Given the description of an element on the screen output the (x, y) to click on. 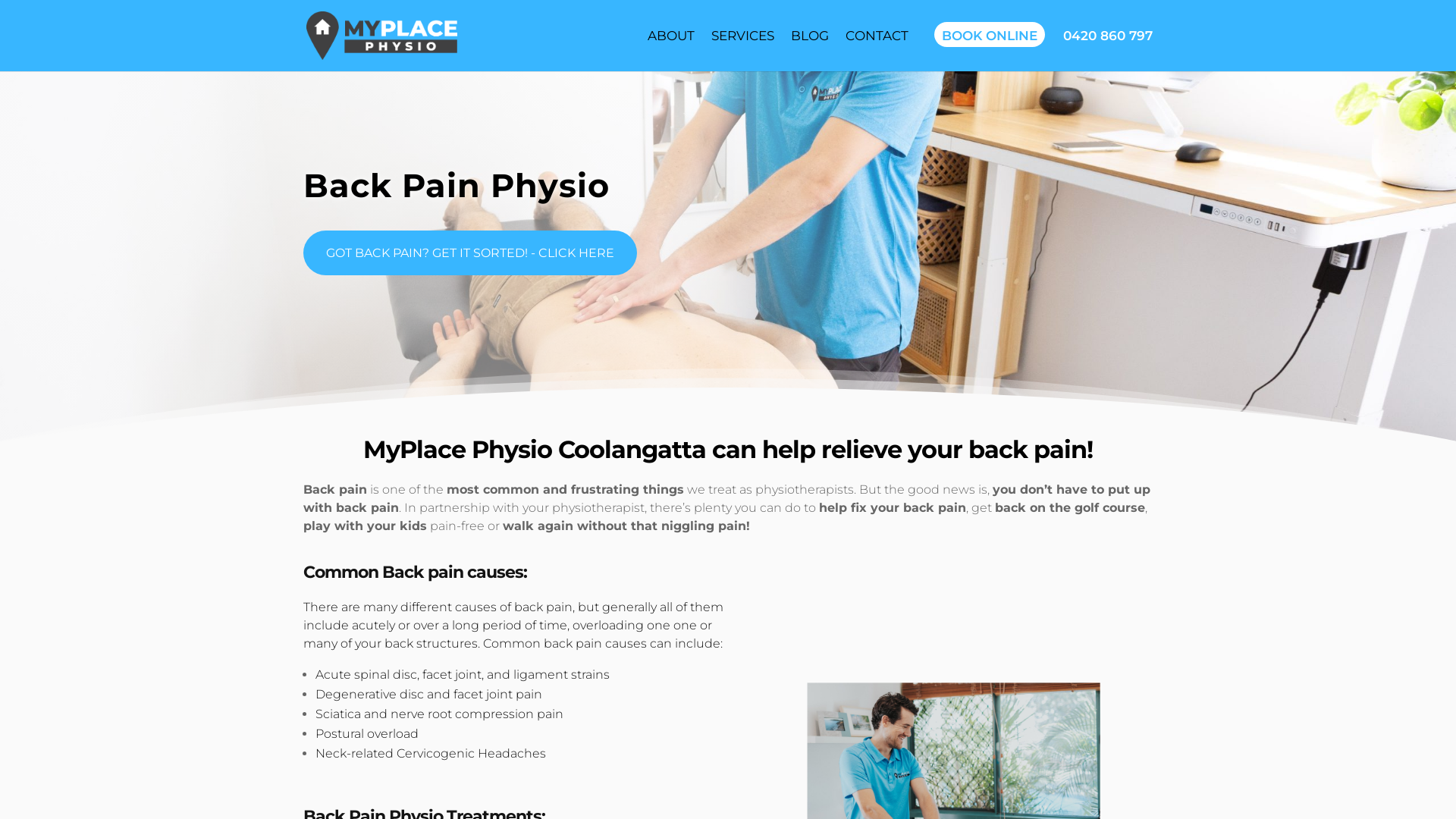
CONTACT Element type: text (876, 35)
0420 860 797 Element type: text (1107, 35)
ABOUT Element type: text (670, 35)
SERVICES Element type: text (742, 35)
BLOG Element type: text (809, 35)
GOT BACK PAIN? GET IT SORTED! - CLICK HERE Element type: text (470, 252)
BOOK ONLINE Element type: text (989, 34)
